Given the description of an element on the screen output the (x, y) to click on. 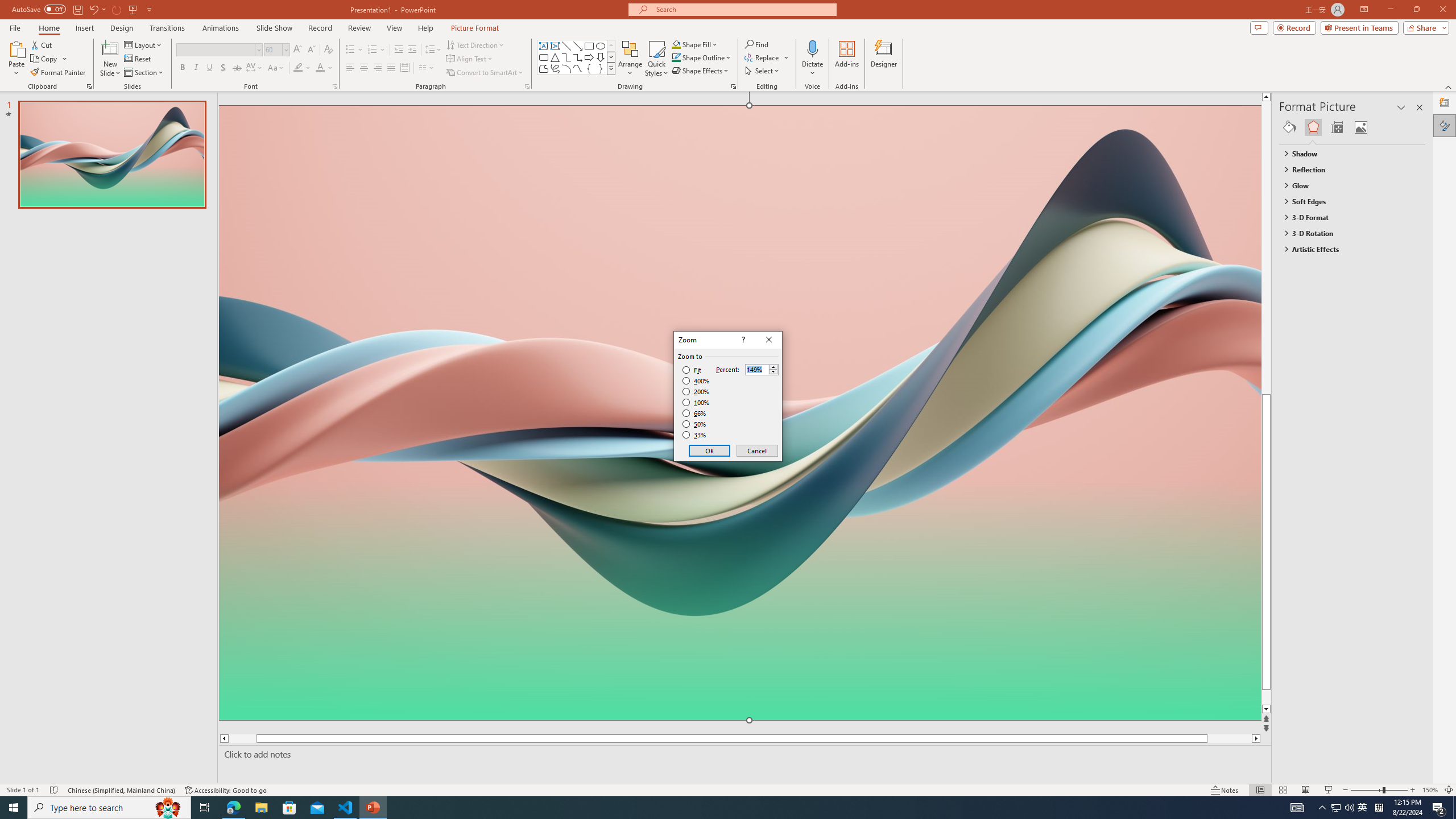
Artistic Effects (1347, 248)
3-D Format (1347, 217)
Shape Outline Blue, Accent 1 (675, 56)
